Given the description of an element on the screen output the (x, y) to click on. 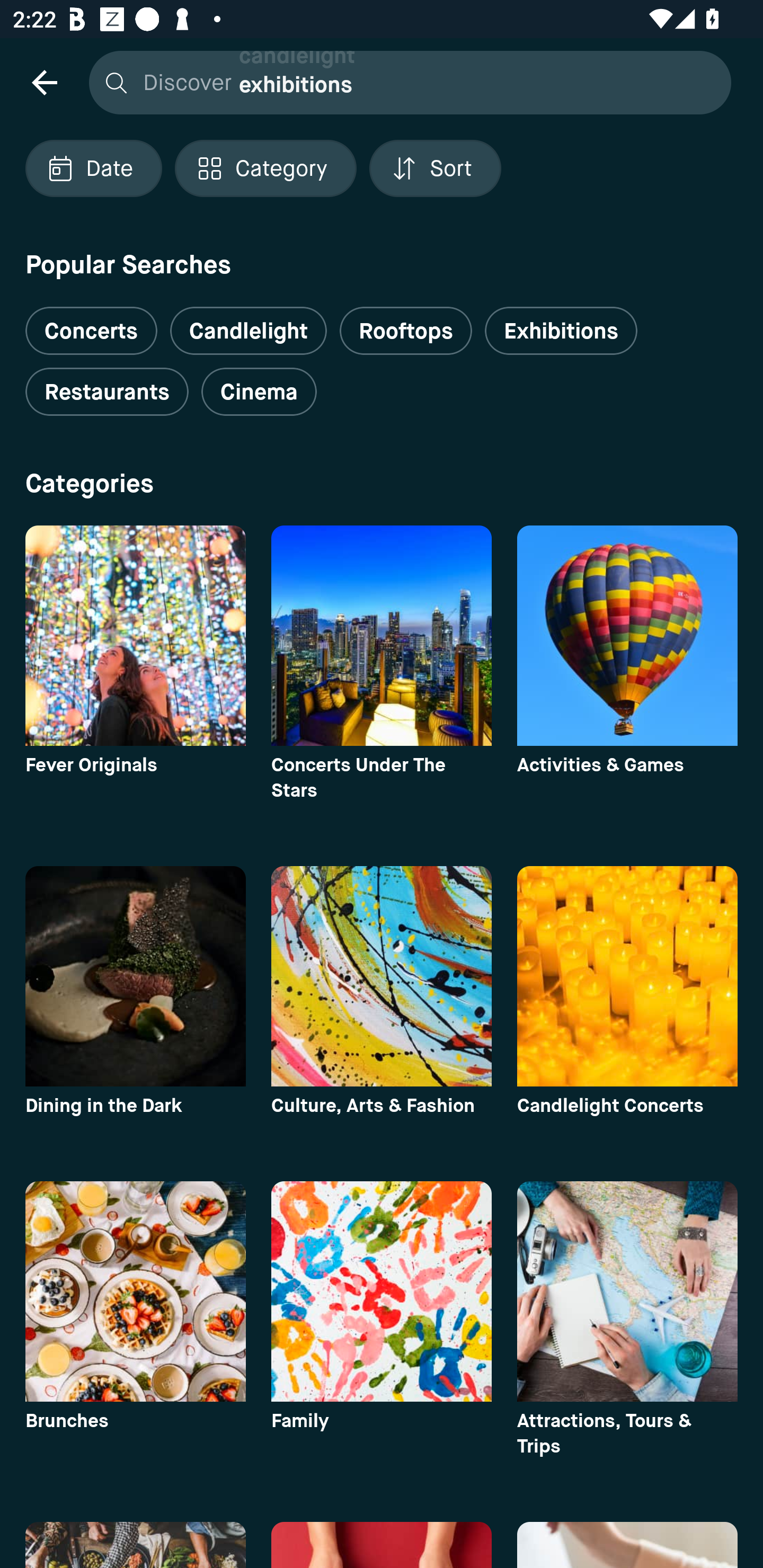
navigation icon (44, 81)
Discover candlelight exhibitions (405, 81)
Localized description Date (93, 168)
Localized description Category (265, 168)
Localized description Sort (435, 168)
Concerts (91, 323)
Candlelight (248, 330)
Rooftops (405, 330)
Exhibitions (560, 330)
Restaurants (106, 391)
Cinema (258, 391)
category image (135, 635)
category image (381, 635)
category image (627, 635)
category image (135, 975)
category image (381, 975)
category image (627, 975)
category image (135, 1290)
category image (381, 1290)
category image (627, 1290)
